Given the description of an element on the screen output the (x, y) to click on. 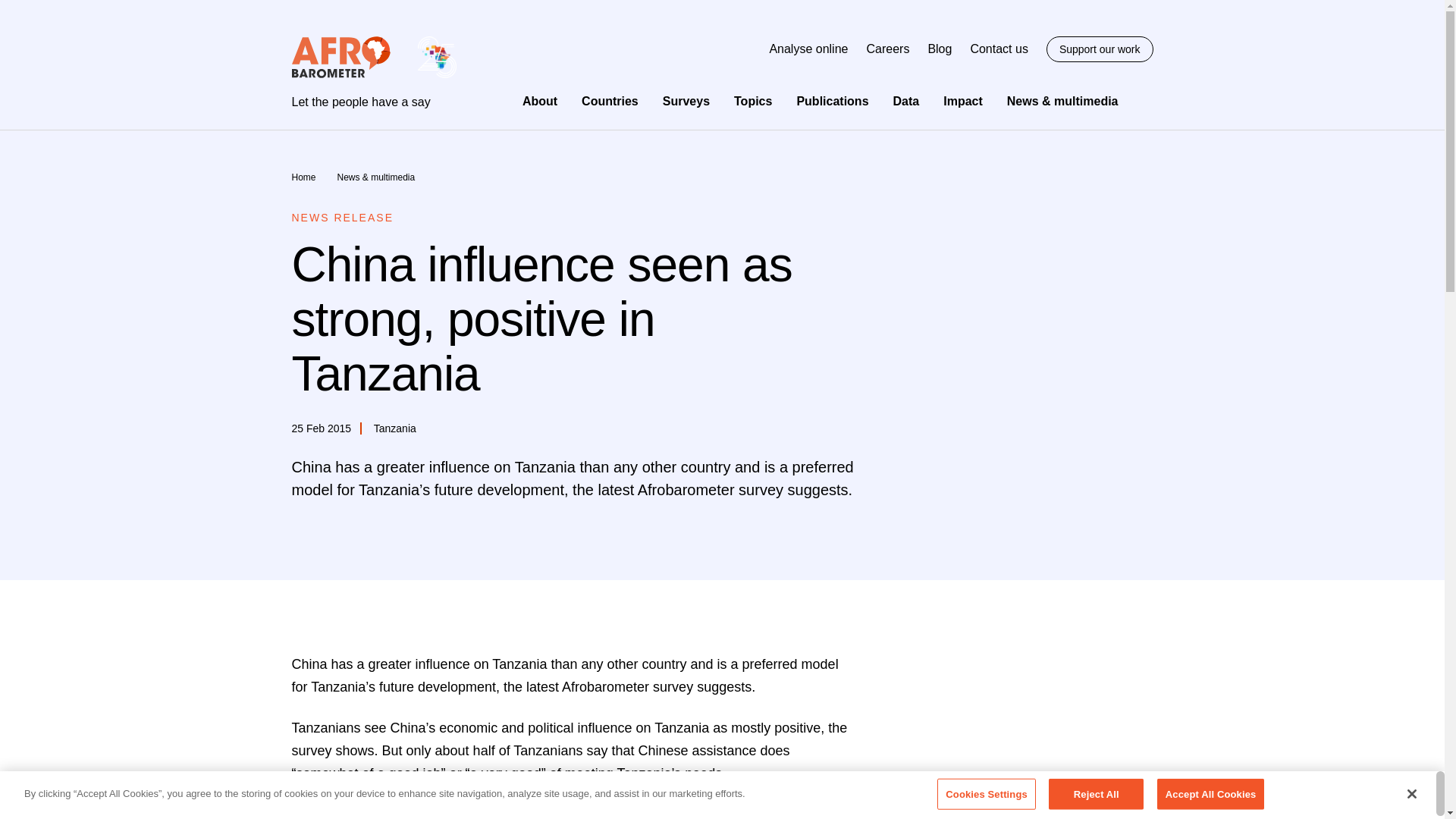
About (539, 101)
Blog (939, 48)
Surveys (686, 101)
Topics (752, 101)
Publications (831, 101)
Go to homepage (373, 73)
Support our work (1099, 49)
Analyse online (807, 48)
Contact us (998, 48)
Careers (887, 48)
Countries (609, 101)
